Given the description of an element on the screen output the (x, y) to click on. 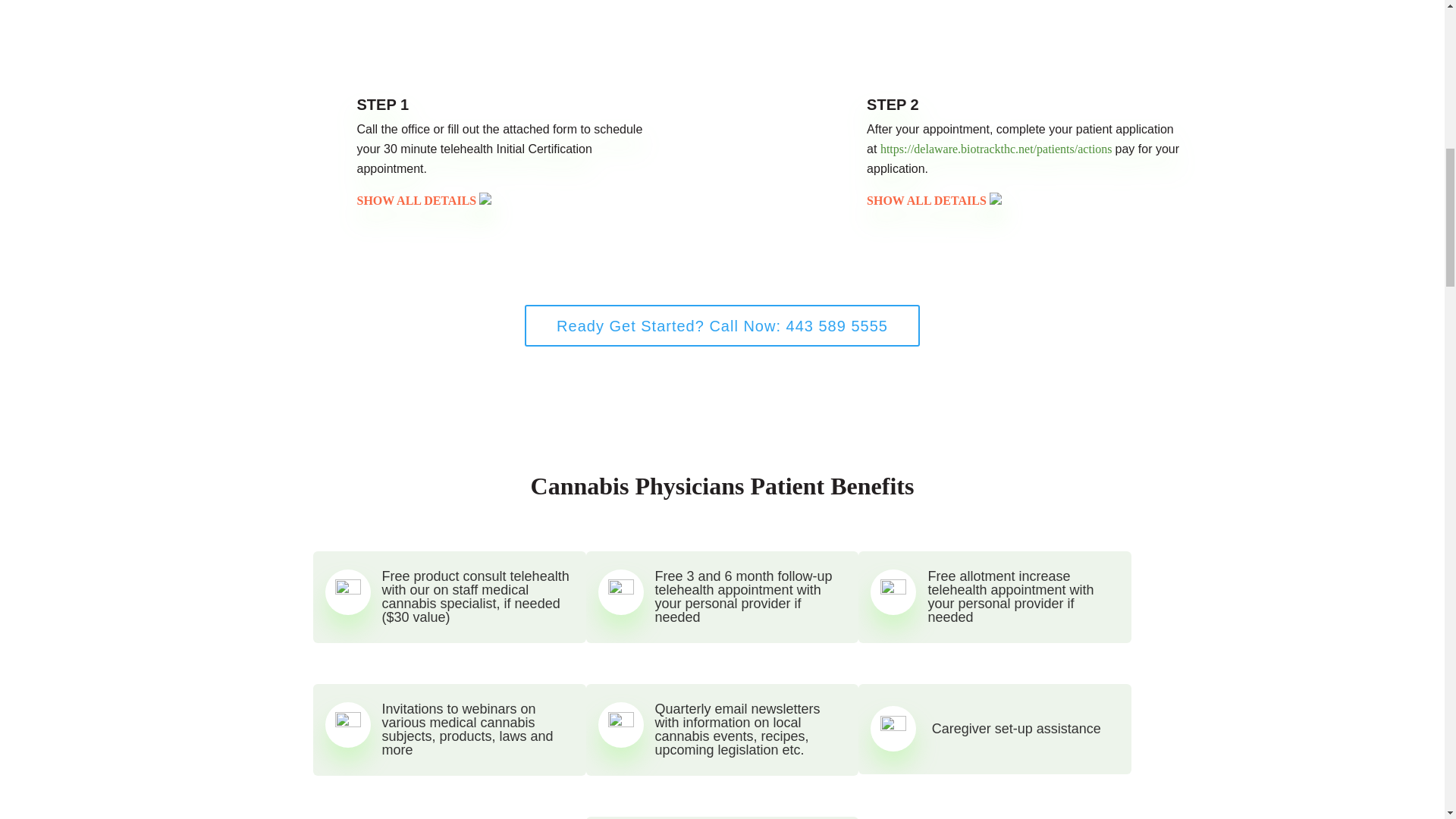
Ready Get Started? Call Now: 443 589 5555 (722, 325)
SHOW ALL DETAILS  (933, 200)
SHOW ALL DETAILS  (424, 200)
